Given the description of an element on the screen output the (x, y) to click on. 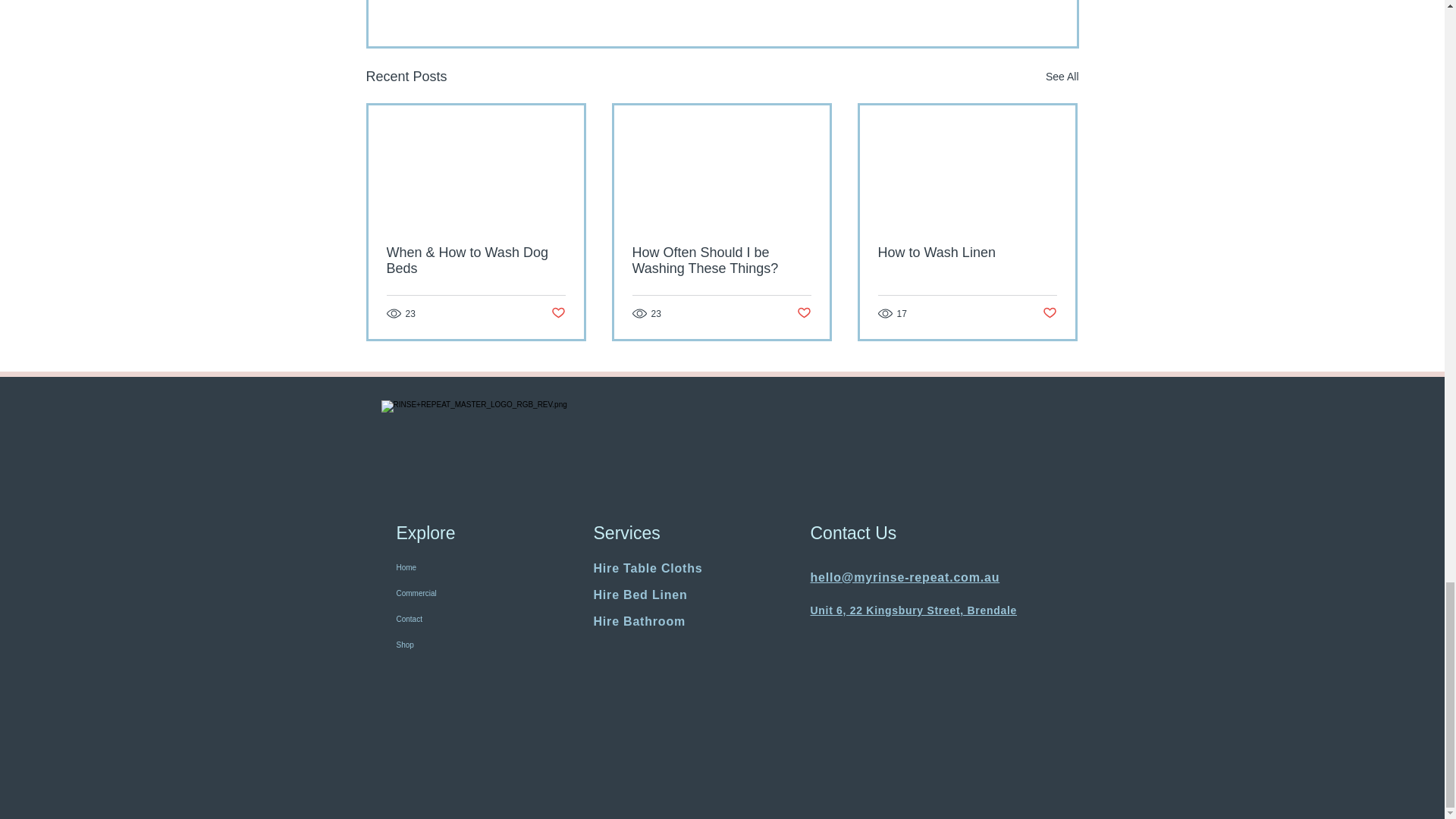
Contact (465, 619)
Post not marked as liked (1049, 313)
Post not marked as liked (803, 313)
Post not marked as liked (557, 313)
How to Wash Linen (967, 252)
How Often Should I be Washing These Things? (720, 260)
Home (465, 567)
See All (1061, 76)
Commercial (465, 593)
